Given the description of an element on the screen output the (x, y) to click on. 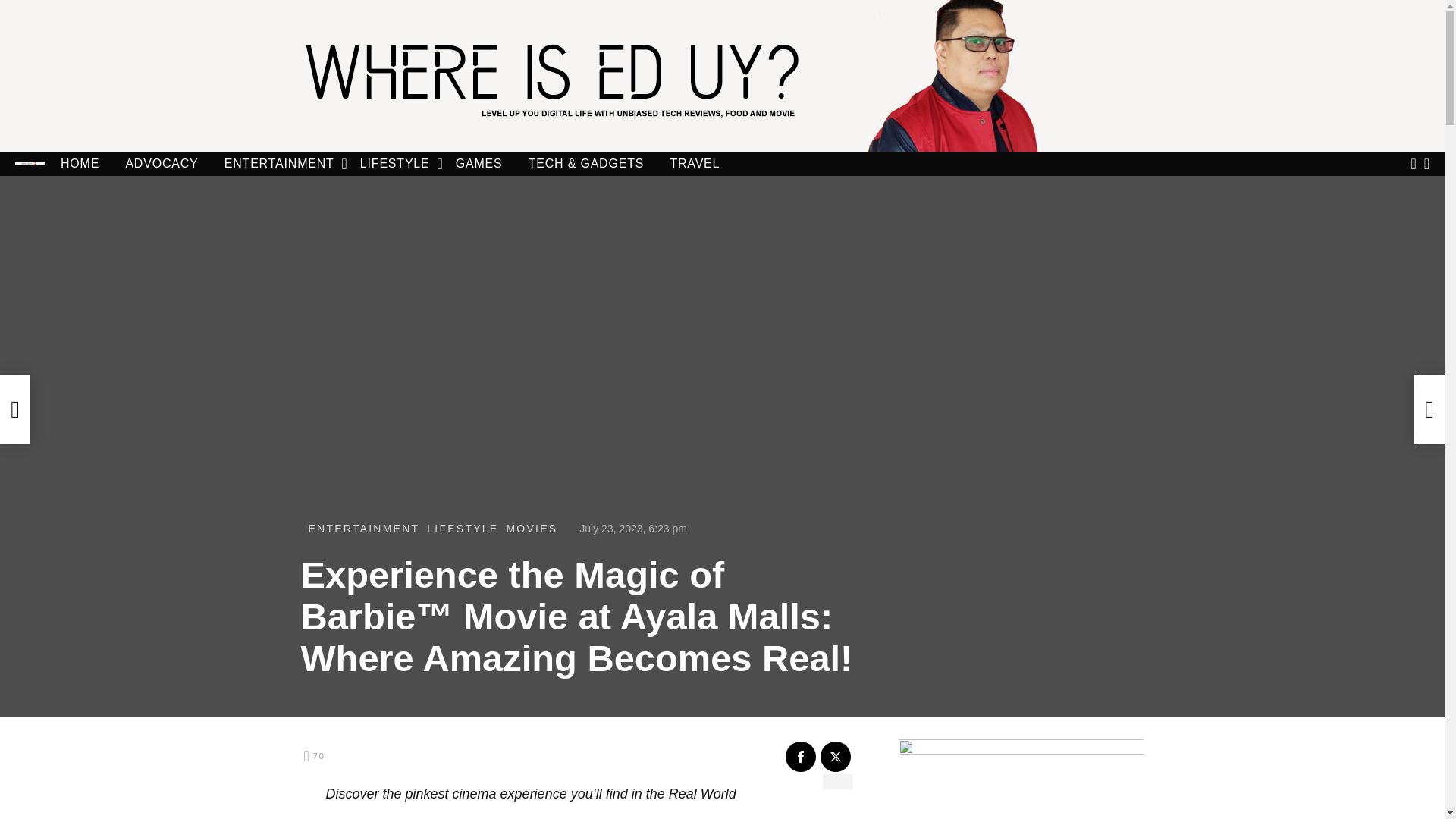
HOME (80, 163)
ADVOCACY (161, 163)
MOVIES (531, 528)
GAMES (478, 163)
ENTERTAINMENT (279, 163)
LIFESTYLE (461, 528)
TRAVEL (694, 163)
LIFESTYLE (394, 163)
ENTERTAINMENT (363, 528)
